Given the description of an element on the screen output the (x, y) to click on. 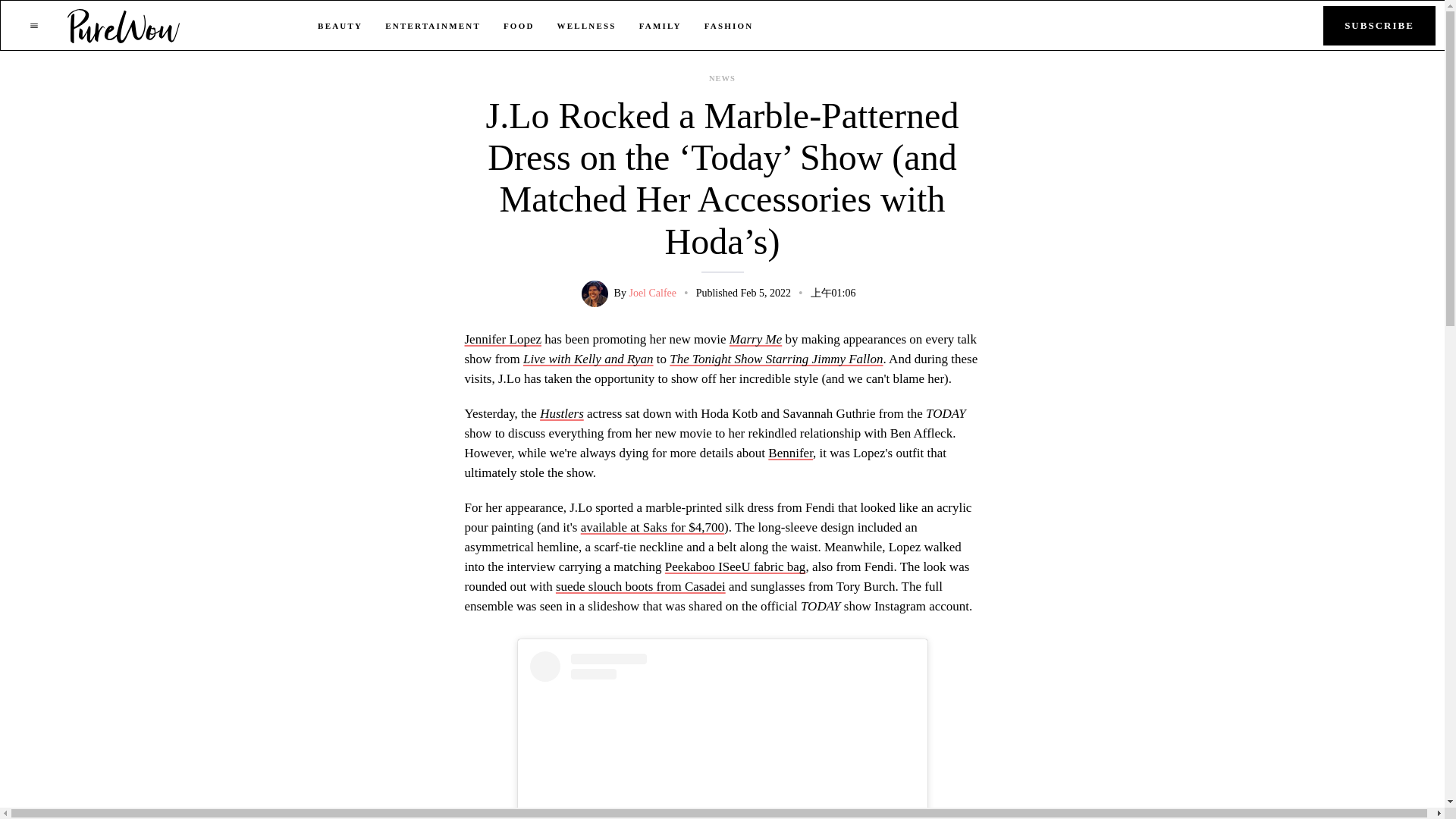
ENTERTAINMENT (432, 25)
BEAUTY (339, 25)
SUBSCRIBE (1379, 25)
Joel Calfee (652, 292)
FOOD (518, 25)
FASHION (729, 25)
FAMILY (660, 25)
NEWS (722, 78)
PureWow (123, 25)
WELLNESS (586, 25)
